Given the description of an element on the screen output the (x, y) to click on. 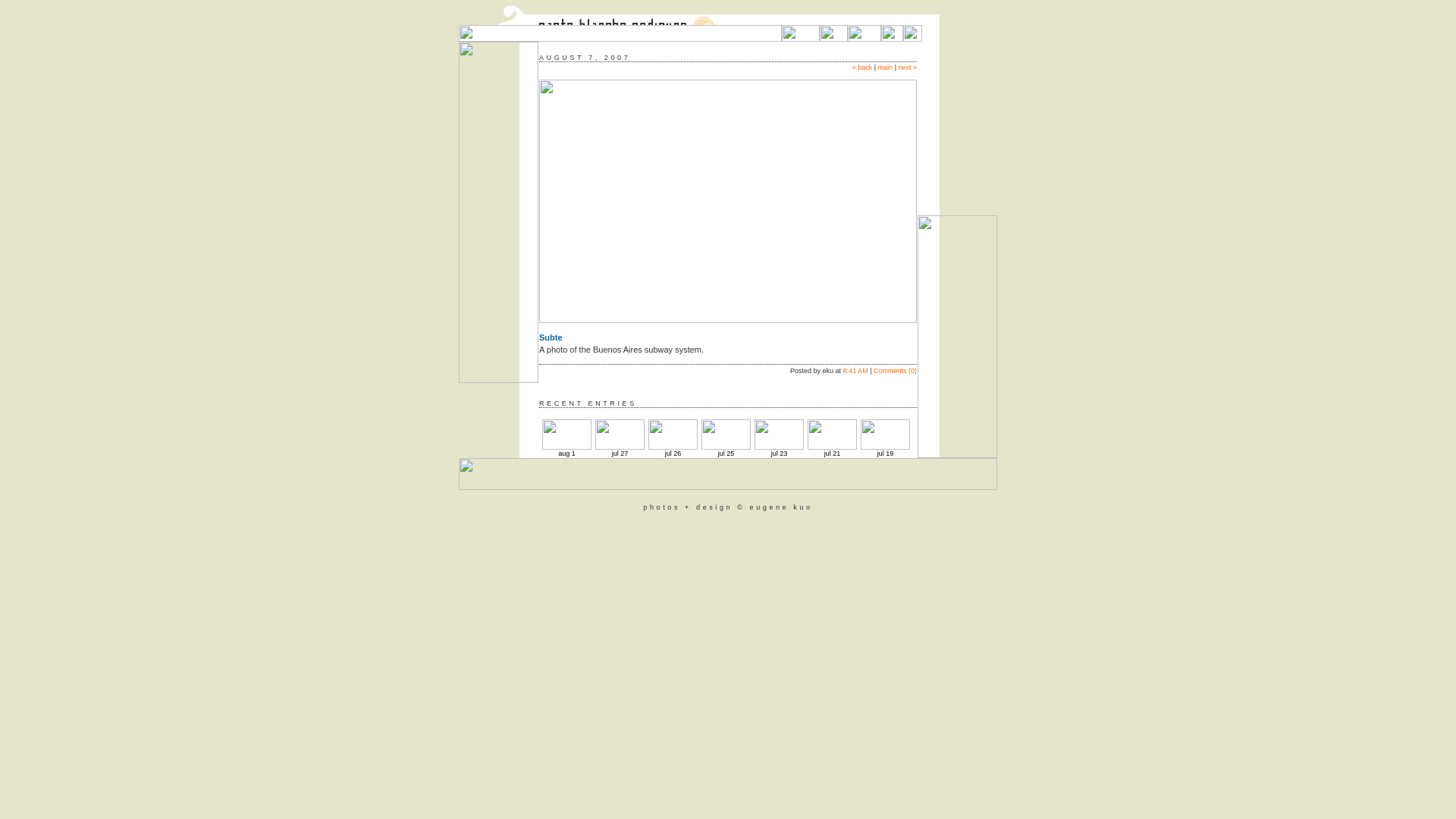
Comments (0) Element type: text (894, 370)
main Element type: text (885, 67)
8:41 AM Element type: text (855, 370)
